Given the description of an element on the screen output the (x, y) to click on. 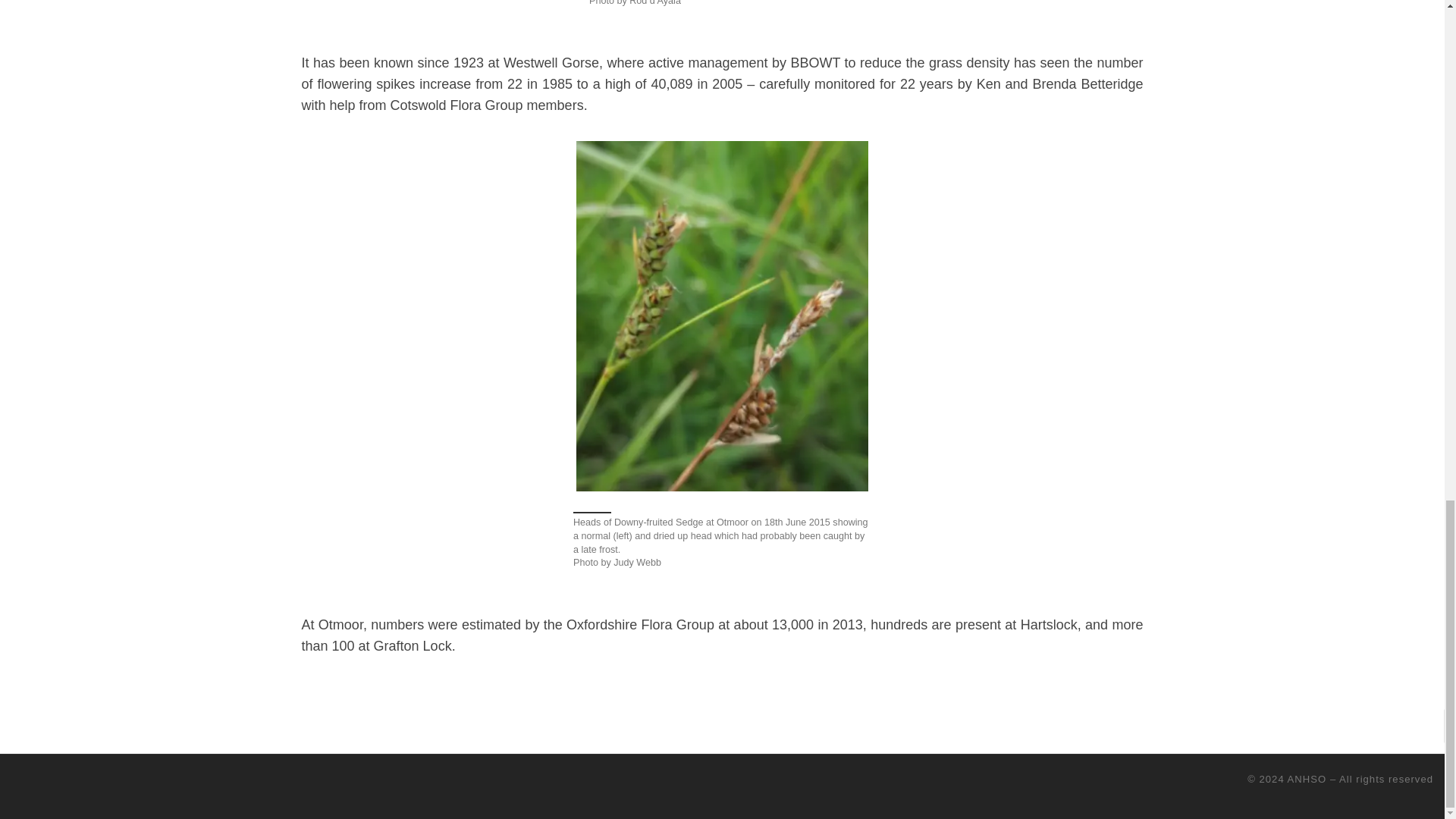
ANHSO (1306, 778)
